Given the description of an element on the screen output the (x, y) to click on. 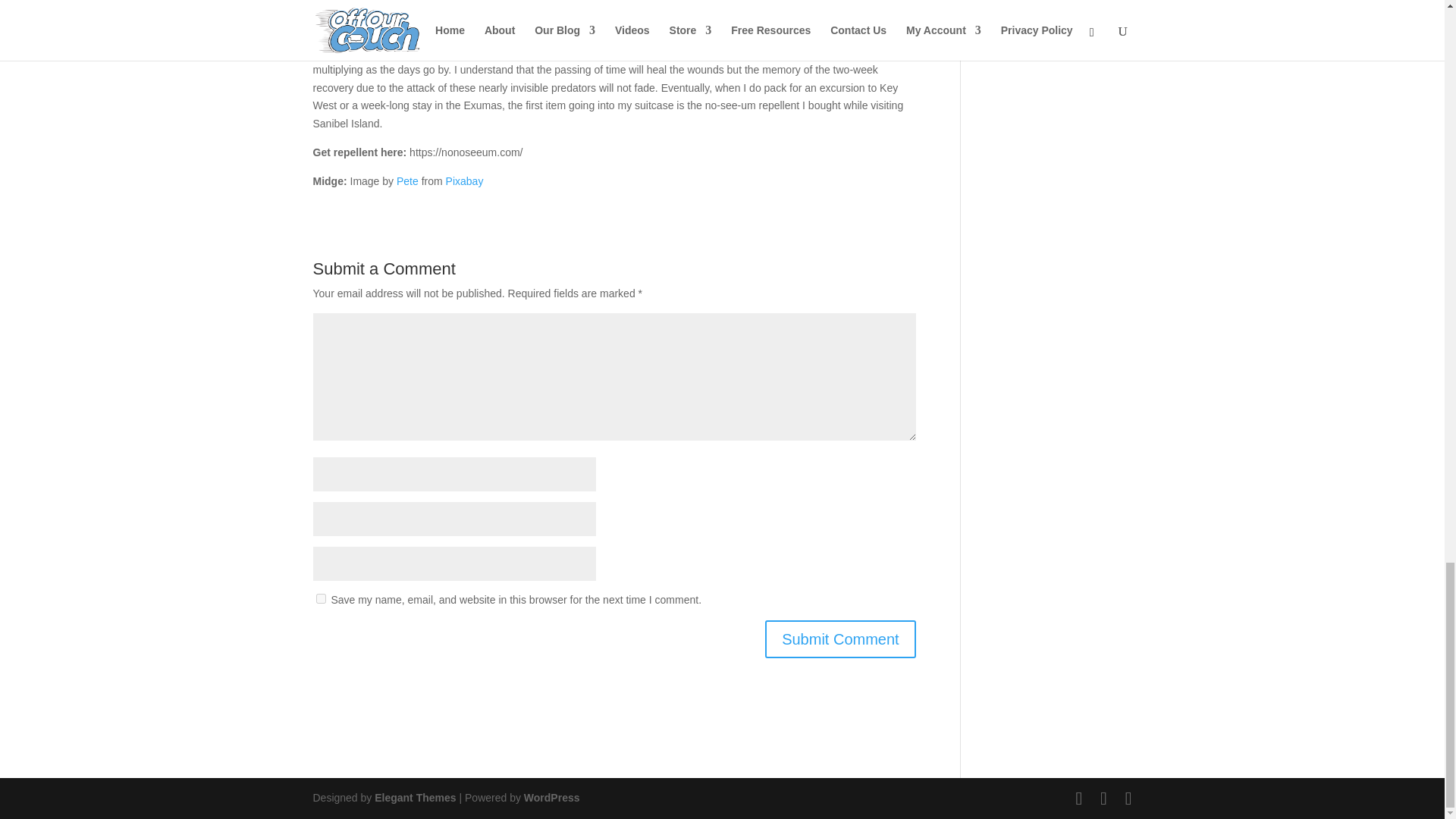
Submit Comment (840, 638)
yes (319, 598)
Pete (407, 181)
Pixabay (464, 181)
Premium WordPress Themes (414, 797)
